Given the description of an element on the screen output the (x, y) to click on. 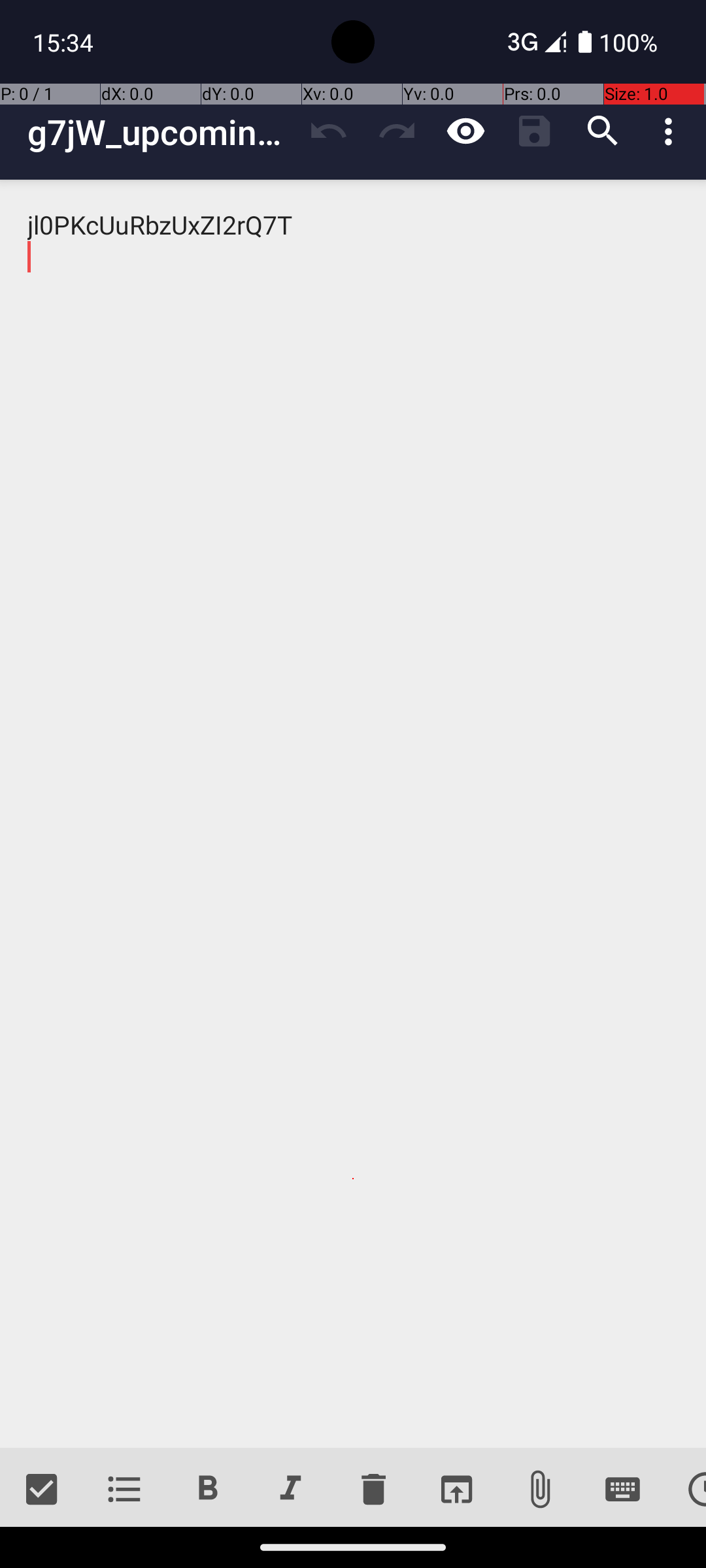
g7jW_upcoming_presentation_outline Element type: android.widget.TextView (160, 131)
jl0PKcUuRbzUxZI2rQ7T
 Element type: android.widget.EditText (353, 813)
